Given the description of an element on the screen output the (x, y) to click on. 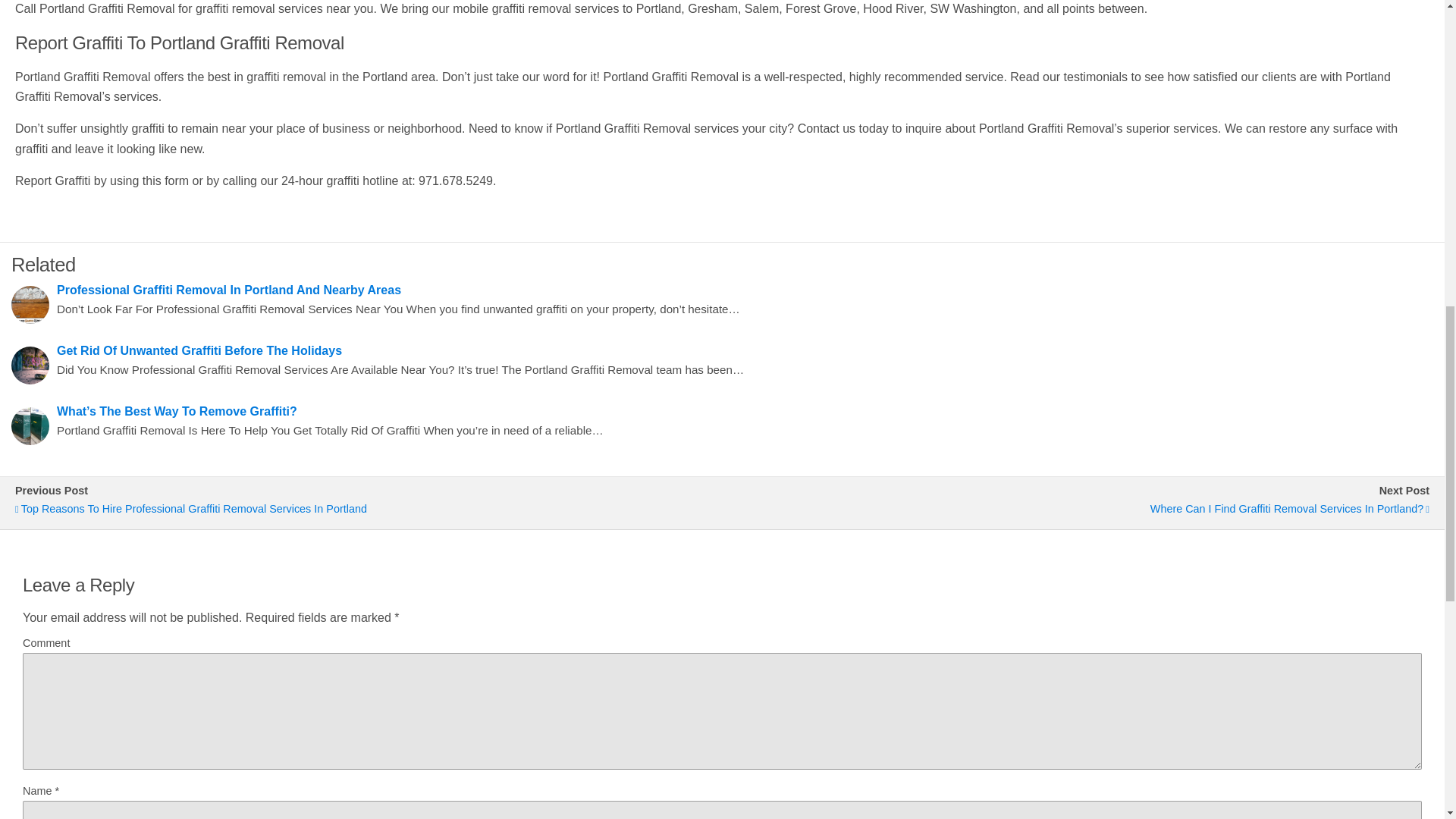
Where Can I Find Graffiti Removal Services In Portland? (1082, 508)
